Given the description of an element on the screen output the (x, y) to click on. 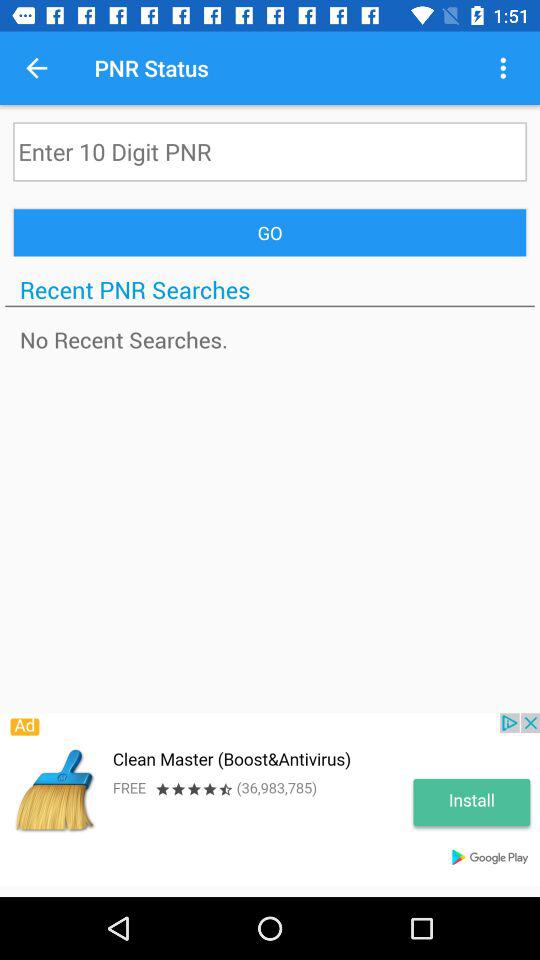
digit pnr field (269, 151)
